Given the description of an element on the screen output the (x, y) to click on. 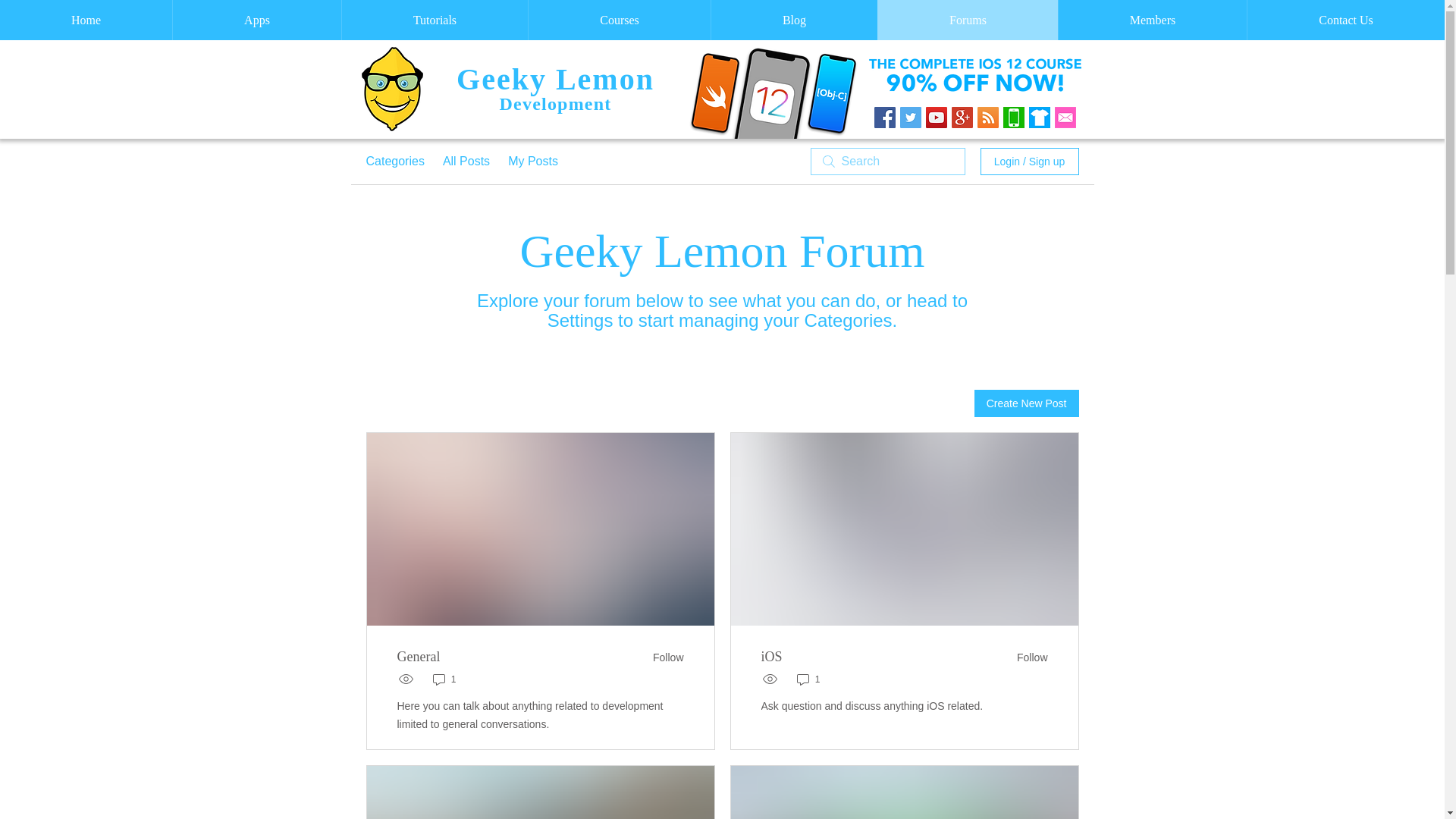
Create New Post (1026, 402)
Tutorials (433, 20)
Apps (255, 20)
Geeky Lemon (555, 79)
All Posts (465, 161)
Home (85, 20)
Members (1152, 20)
Categories (394, 161)
Forums (967, 20)
Courses (618, 20)
